Given the description of an element on the screen output the (x, y) to click on. 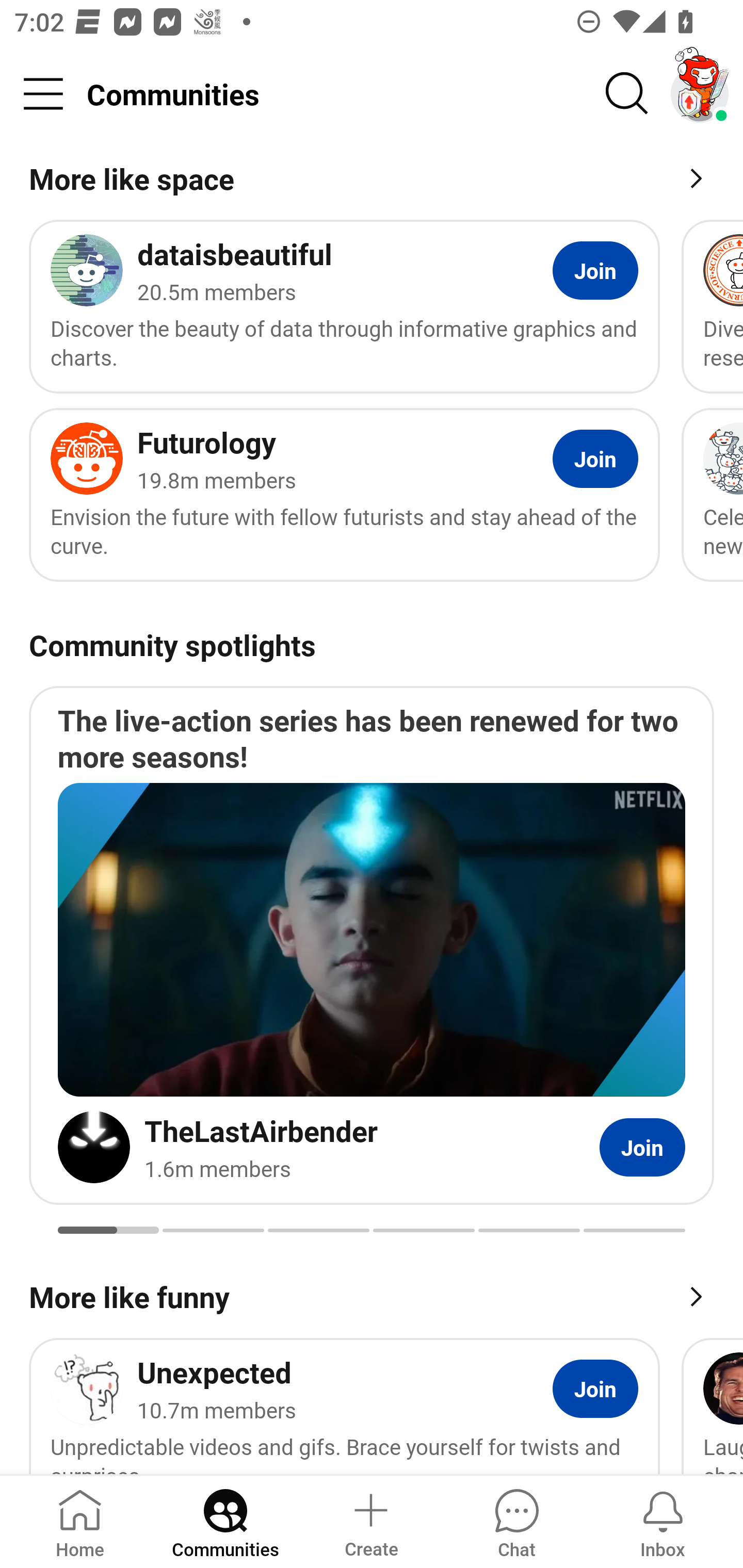
Community menu (43, 93)
Search (626, 93)
TestAppium002 account (699, 93)
More like space View more (371, 181)
More like funny View more (371, 1294)
Home (80, 1520)
Communities (225, 1520)
Create a post Create (370, 1520)
Chat (516, 1520)
Inbox (662, 1520)
